Given the description of an element on the screen output the (x, y) to click on. 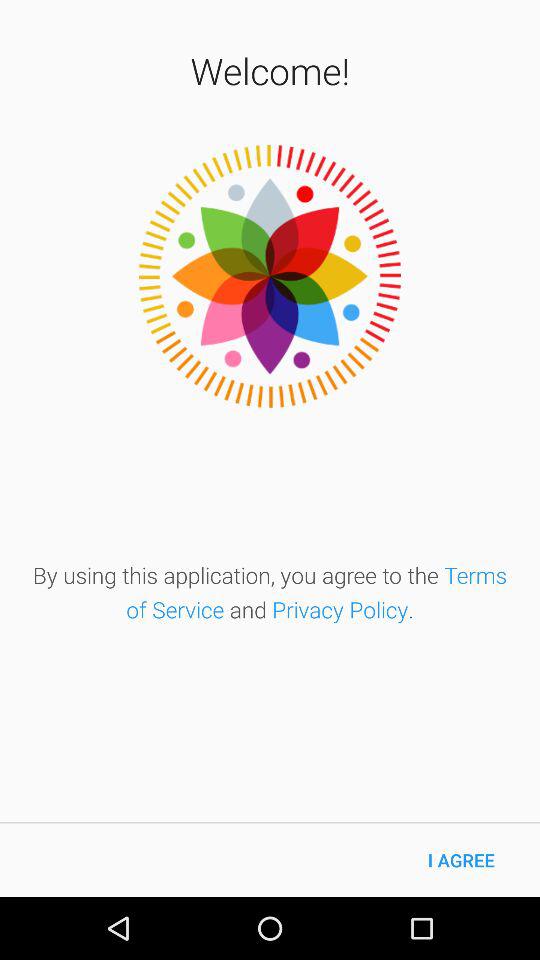
open the i agree icon (461, 859)
